Given the description of an element on the screen output the (x, y) to click on. 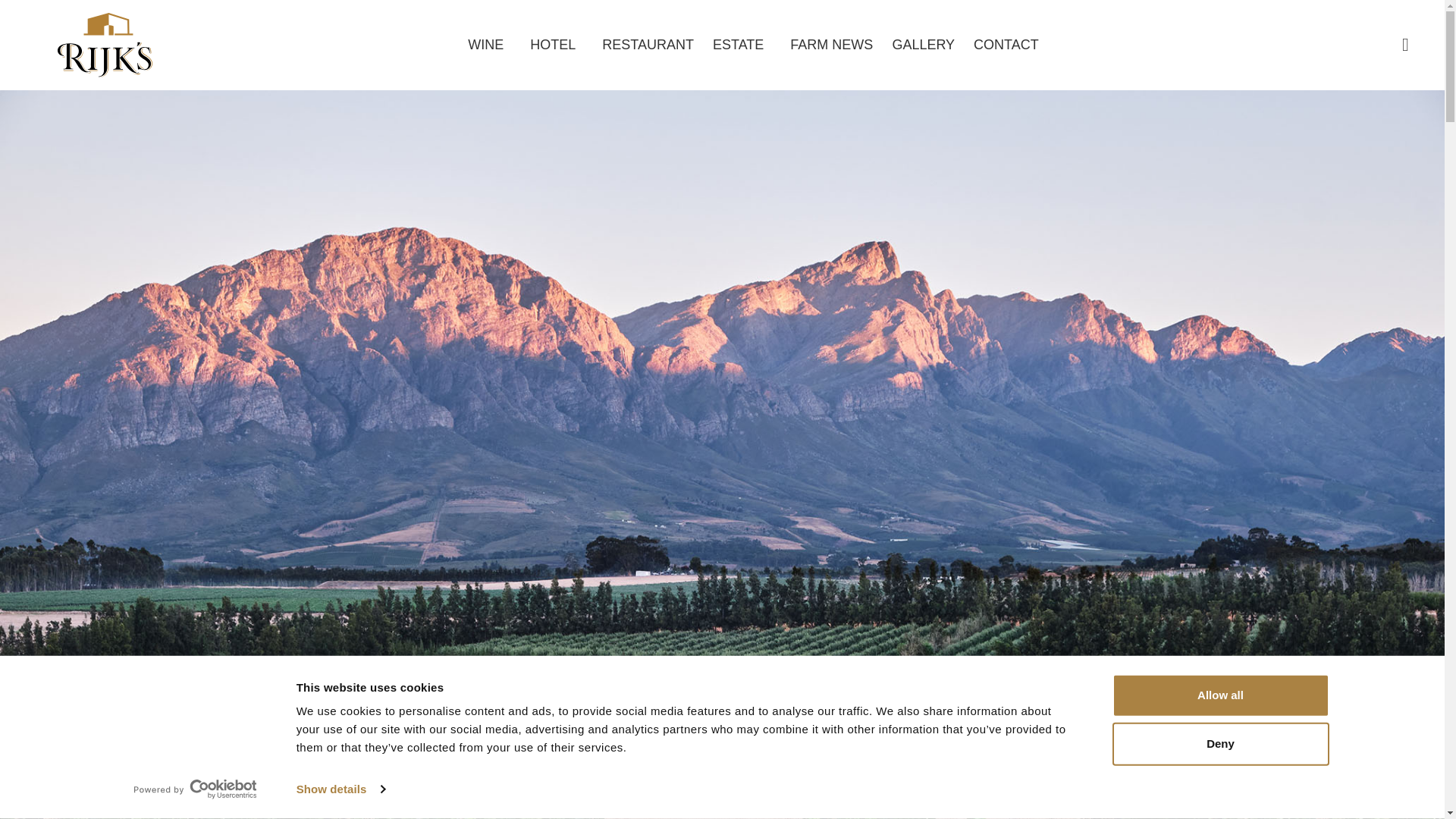
WINE (488, 44)
Show details (340, 789)
HOTEL (556, 44)
Deny (1219, 743)
Allow all (1219, 695)
